Given the description of an element on the screen output the (x, y) to click on. 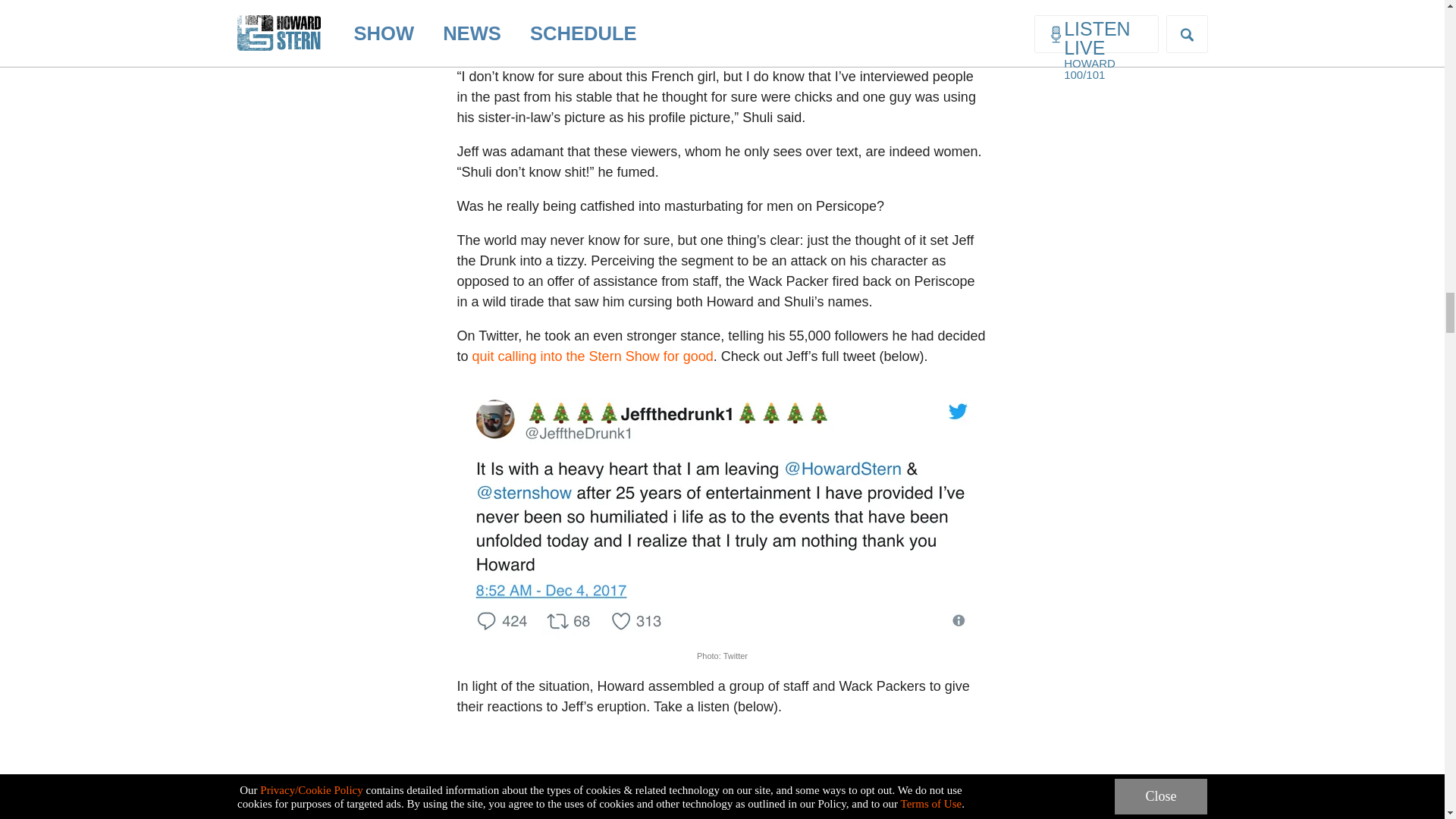
quit calling into the Stern Show for good (592, 355)
